Given the description of an element on the screen output the (x, y) to click on. 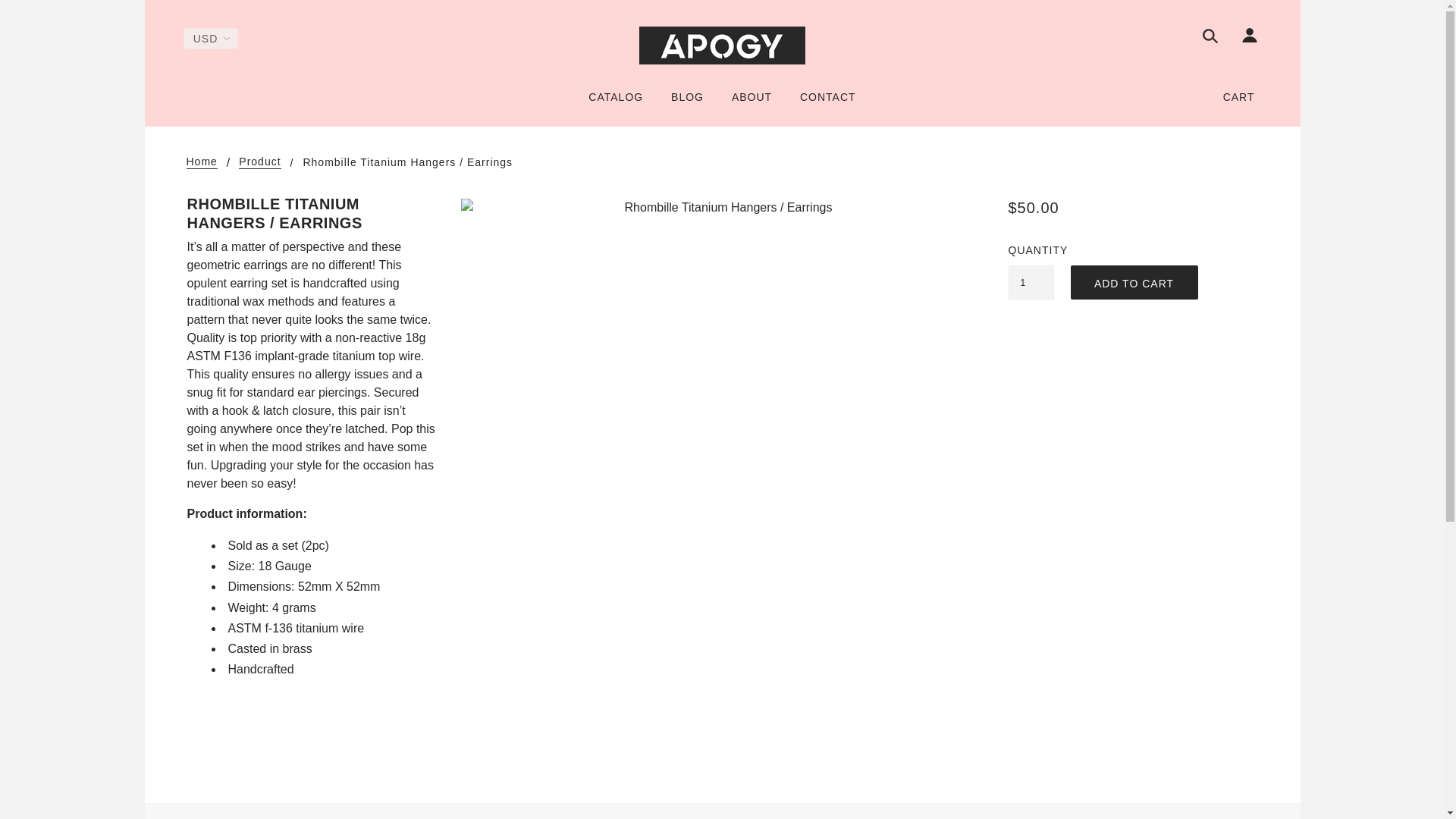
CART (1241, 96)
VIEW ACCOUNT (86, 33)
Product (259, 162)
ABOUT (751, 102)
BLOG (687, 102)
Apogy (722, 45)
ADD TO CART (1134, 282)
CONTACT (827, 102)
CATALOG (615, 102)
1 (1031, 282)
Home (201, 162)
